Given the description of an element on the screen output the (x, y) to click on. 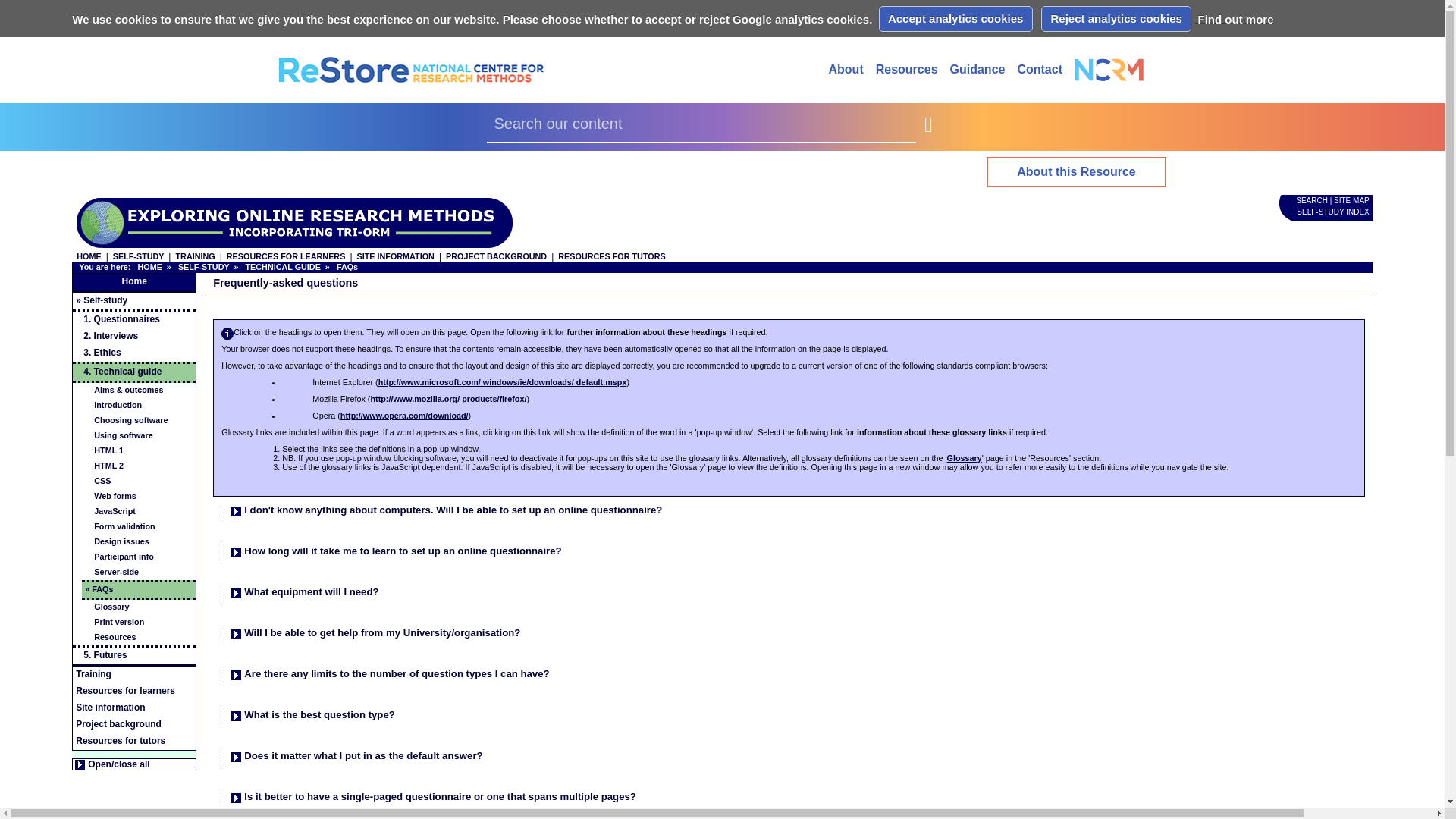
Guidance (978, 69)
Accept analytics cookies (955, 18)
SEARCH (1311, 199)
SITE MAP (1351, 199)
Search (928, 124)
1. Questionnaires (133, 319)
 RESOURCES FOR TUTORS  (609, 256)
Resources (906, 69)
 PROJECT BACKGROUND  (496, 256)
3. Ethics (133, 352)
